Given the description of an element on the screen output the (x, y) to click on. 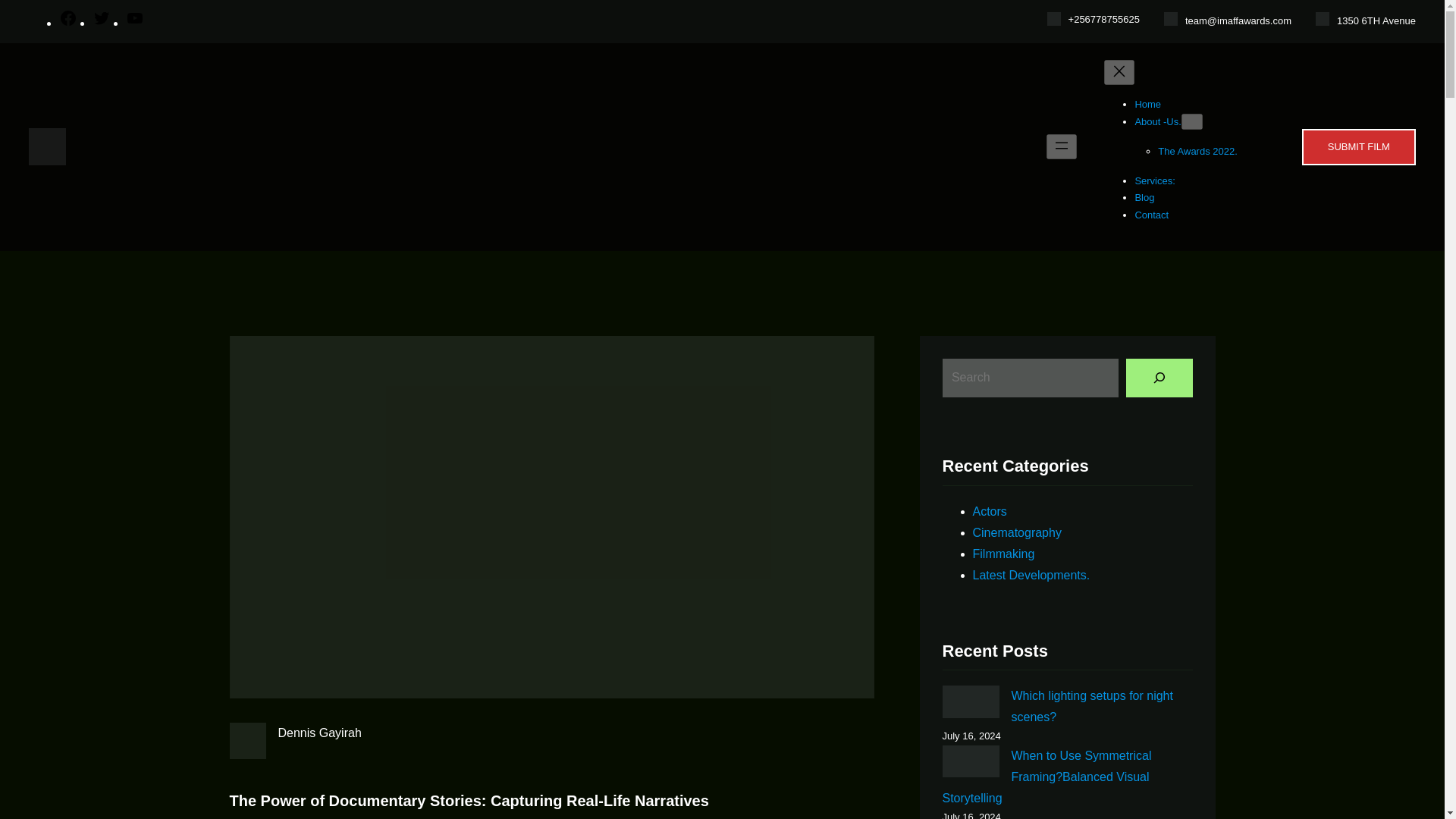
About -Us. (1157, 120)
Blog (1144, 197)
Contact (1151, 214)
YouTube (134, 22)
SUBMIT FILM (1358, 146)
Home (1147, 103)
Facebook (68, 22)
Twitter (101, 22)
Services: (1154, 179)
The Awards 2022. (1197, 151)
